Given the description of an element on the screen output the (x, y) to click on. 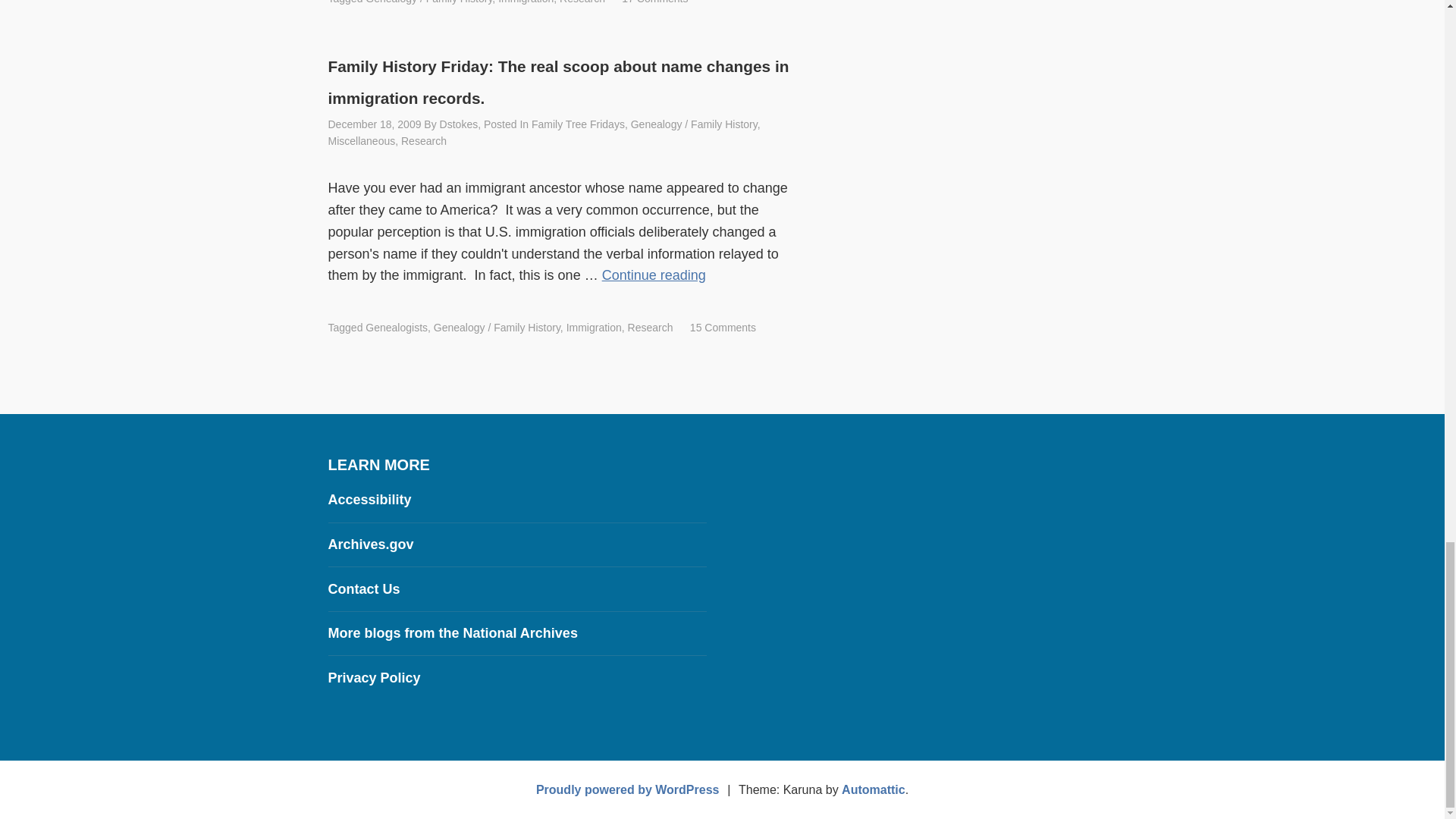
December 18, 2009 (373, 123)
Accessibility information on archives.gov (368, 499)
Research (423, 141)
Dstokes (459, 123)
Immigration (525, 2)
U.S. National Archives Blogroll (451, 632)
Immigration (593, 327)
Genealogists (396, 327)
